Given the description of an element on the screen output the (x, y) to click on. 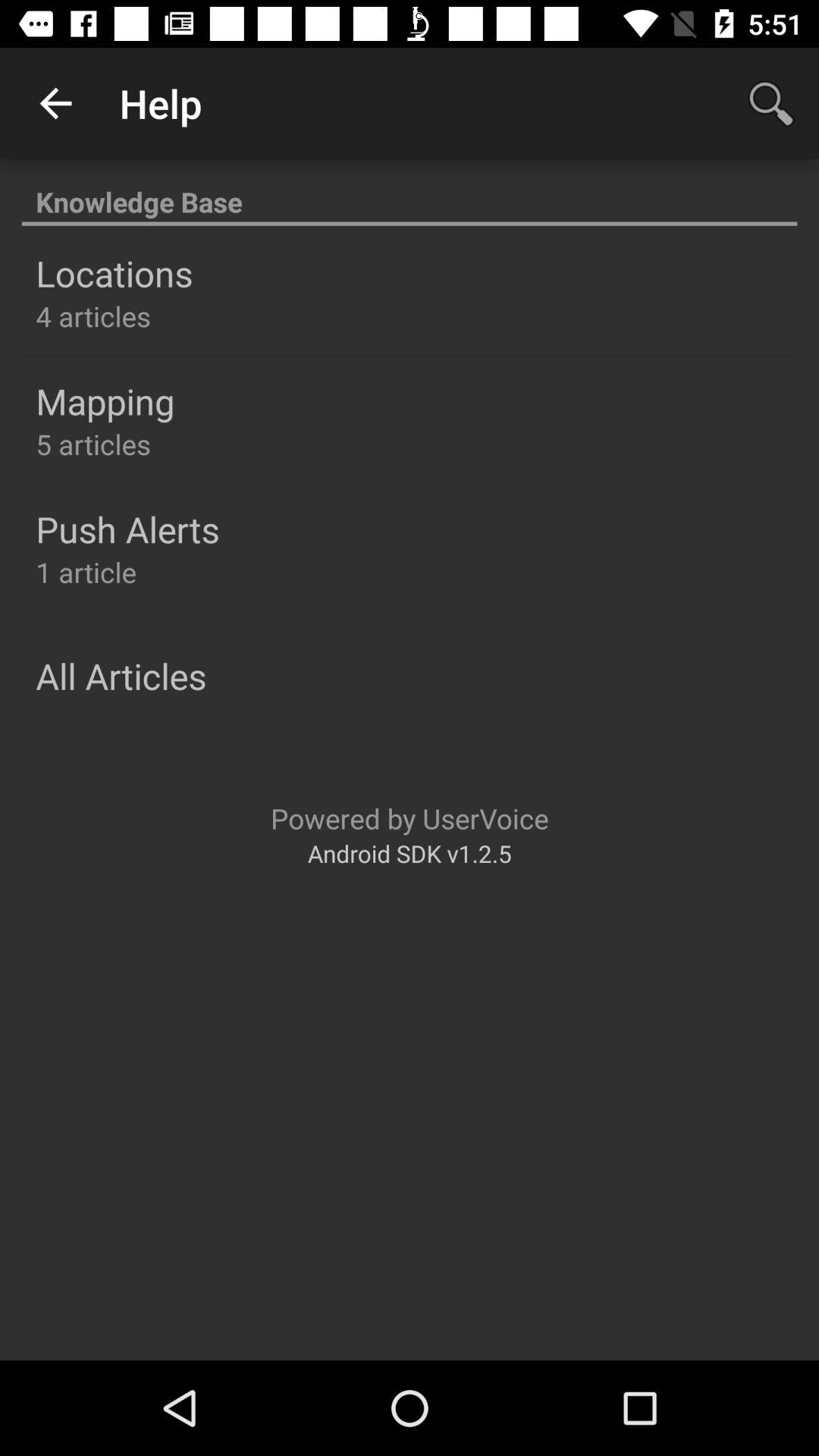
turn on the 5 articles icon (92, 443)
